Given the description of an element on the screen output the (x, y) to click on. 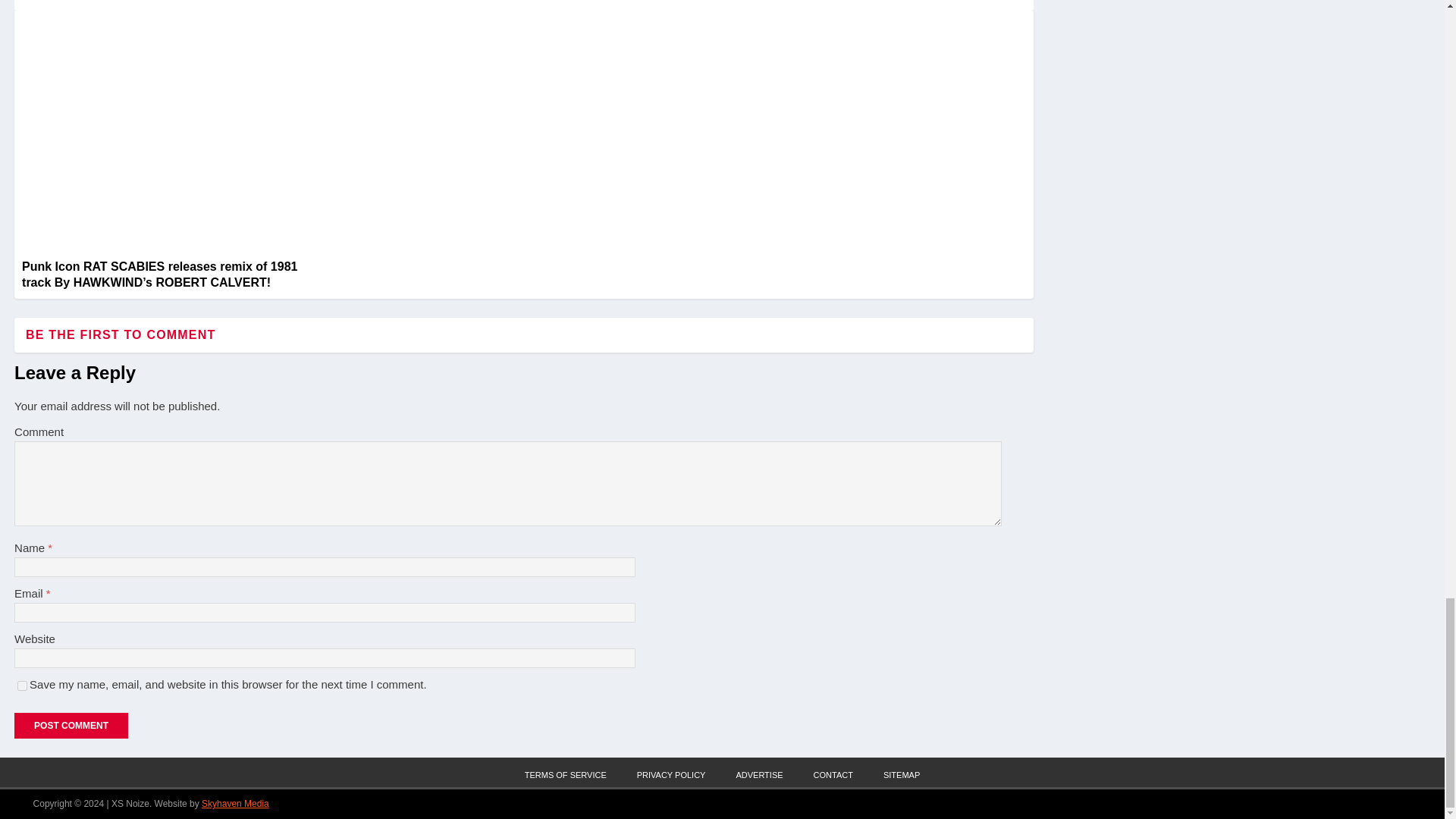
yes (22, 685)
Post Comment (71, 725)
